Given the description of an element on the screen output the (x, y) to click on. 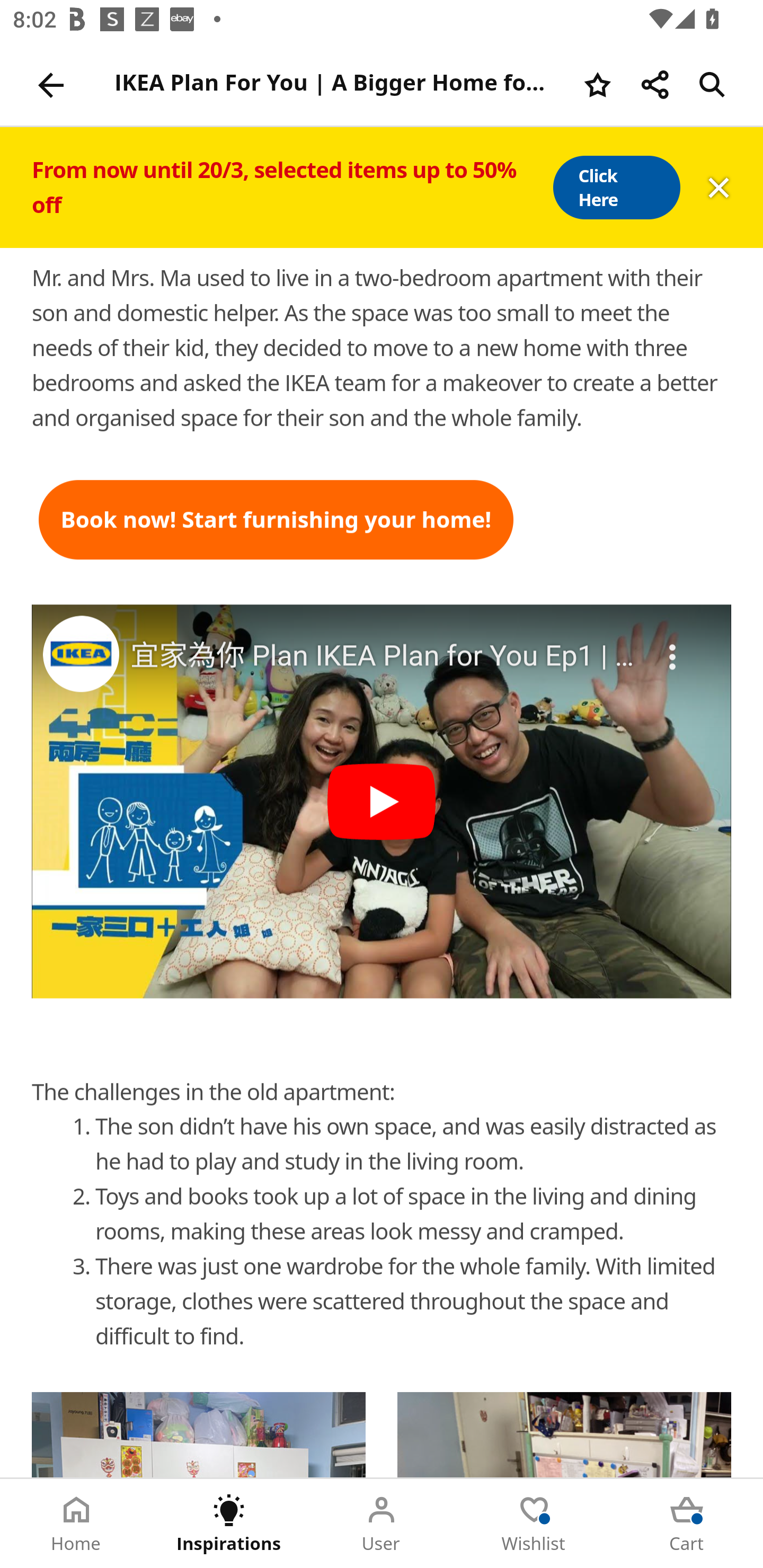
Click Here (615, 187)
Book now! Start furnishing your home! (276, 520)
More (673, 645)
Photo image of IKEAHongKong (80, 653)
宜家為你 Plan IKEA Plan for You Ep1 | IKEA Hong Kong (382, 655)
Play (381, 801)
Home
Tab 1 of 5 (76, 1522)
Inspirations
Tab 2 of 5 (228, 1522)
User
Tab 3 of 5 (381, 1522)
Wishlist
Tab 4 of 5 (533, 1522)
Cart
Tab 5 of 5 (686, 1522)
